Given the description of an element on the screen output the (x, y) to click on. 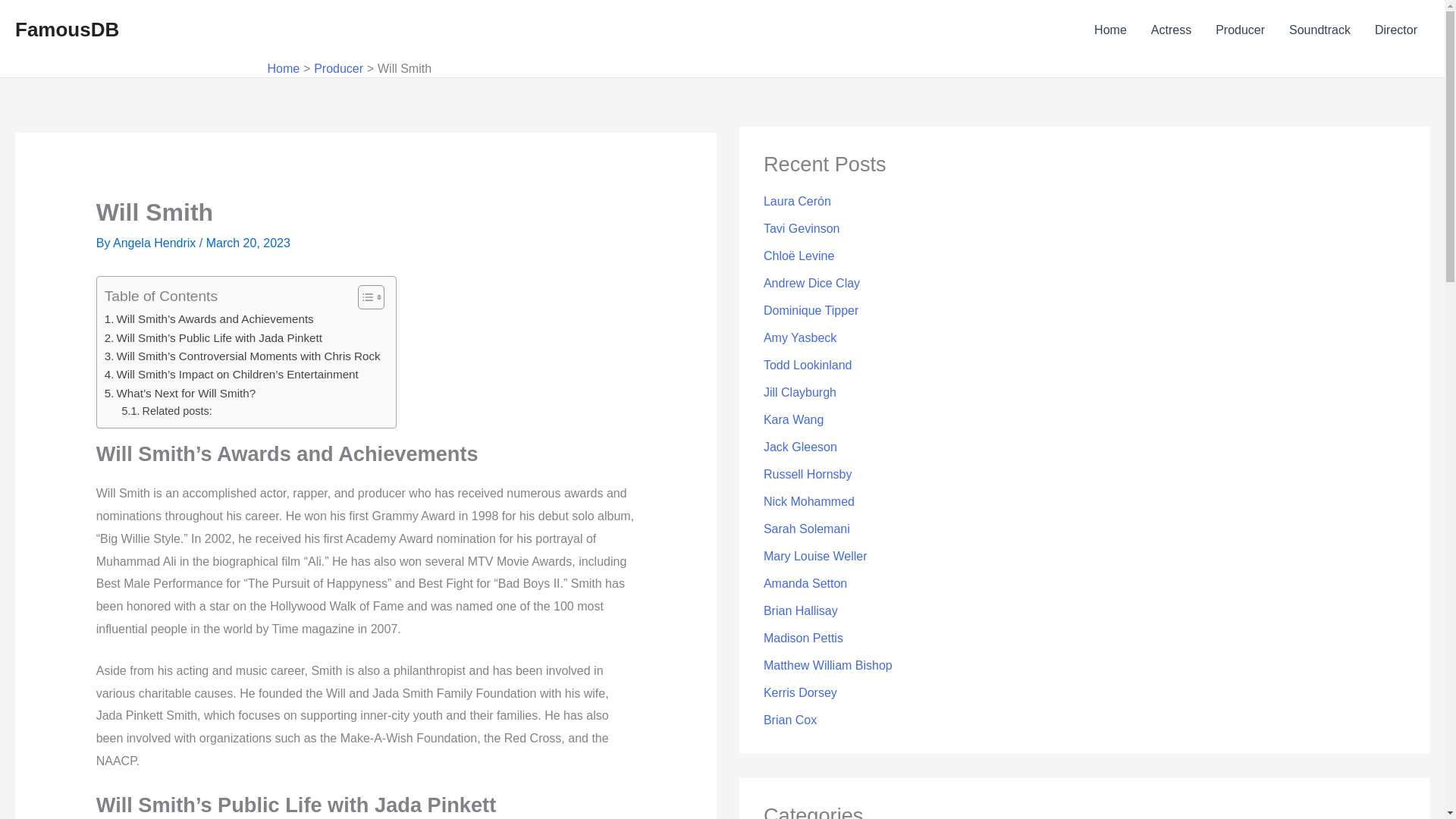
Producer (338, 68)
Director (1395, 30)
Home (282, 68)
Related posts: (167, 411)
Russell Hornsby (806, 473)
Nick Mohammed (808, 501)
Jill Clayburgh (798, 391)
Angela Hendrix (156, 242)
Dominique Tipper (810, 309)
Related posts: (167, 411)
